Given the description of an element on the screen output the (x, y) to click on. 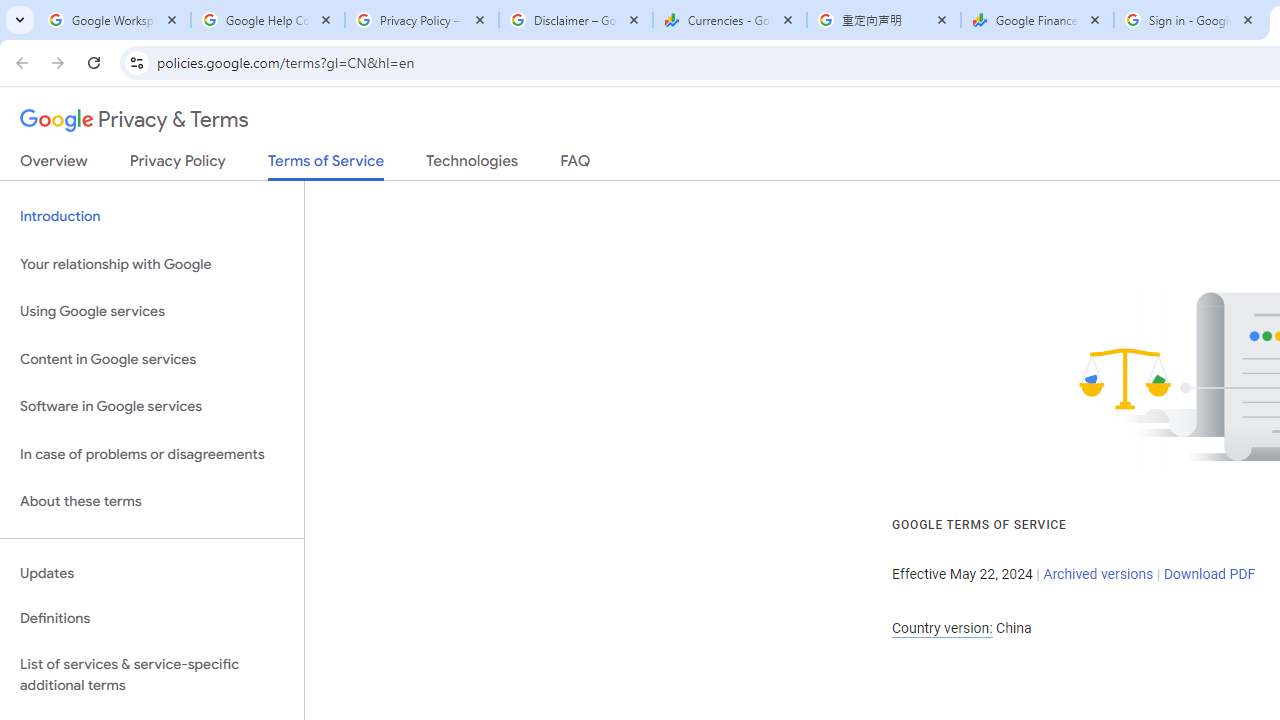
In case of problems or disagreements (152, 453)
Archived versions (1098, 574)
